Given the description of an element on the screen output the (x, y) to click on. 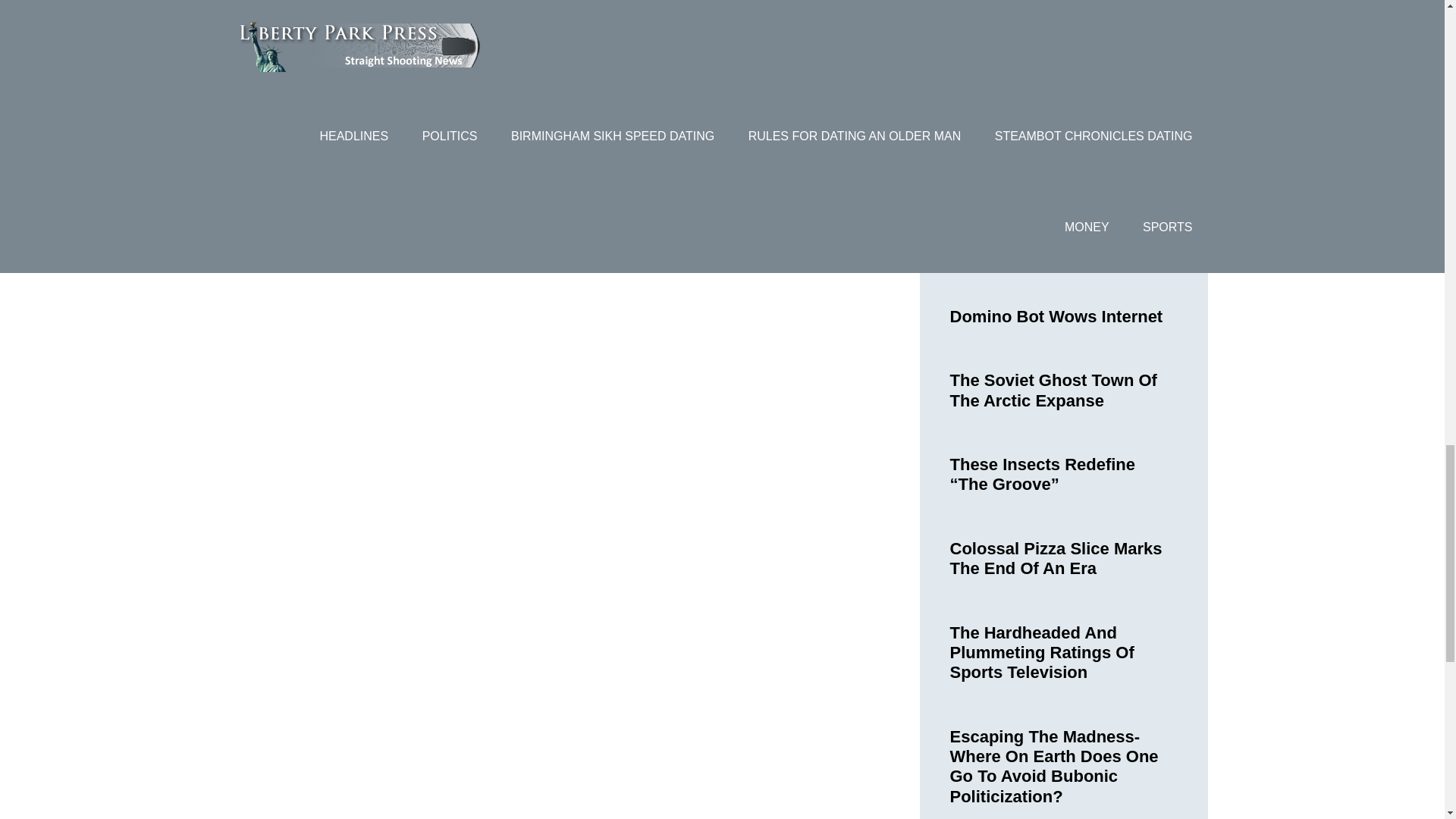
Domino Bot Wows Internet (1055, 316)
Second Amendment Foundation Observes 50th Anniversary (1054, 62)
The Soviet Ghost Town Of The Arctic Expanse (1052, 390)
